Given the description of an element on the screen output the (x, y) to click on. 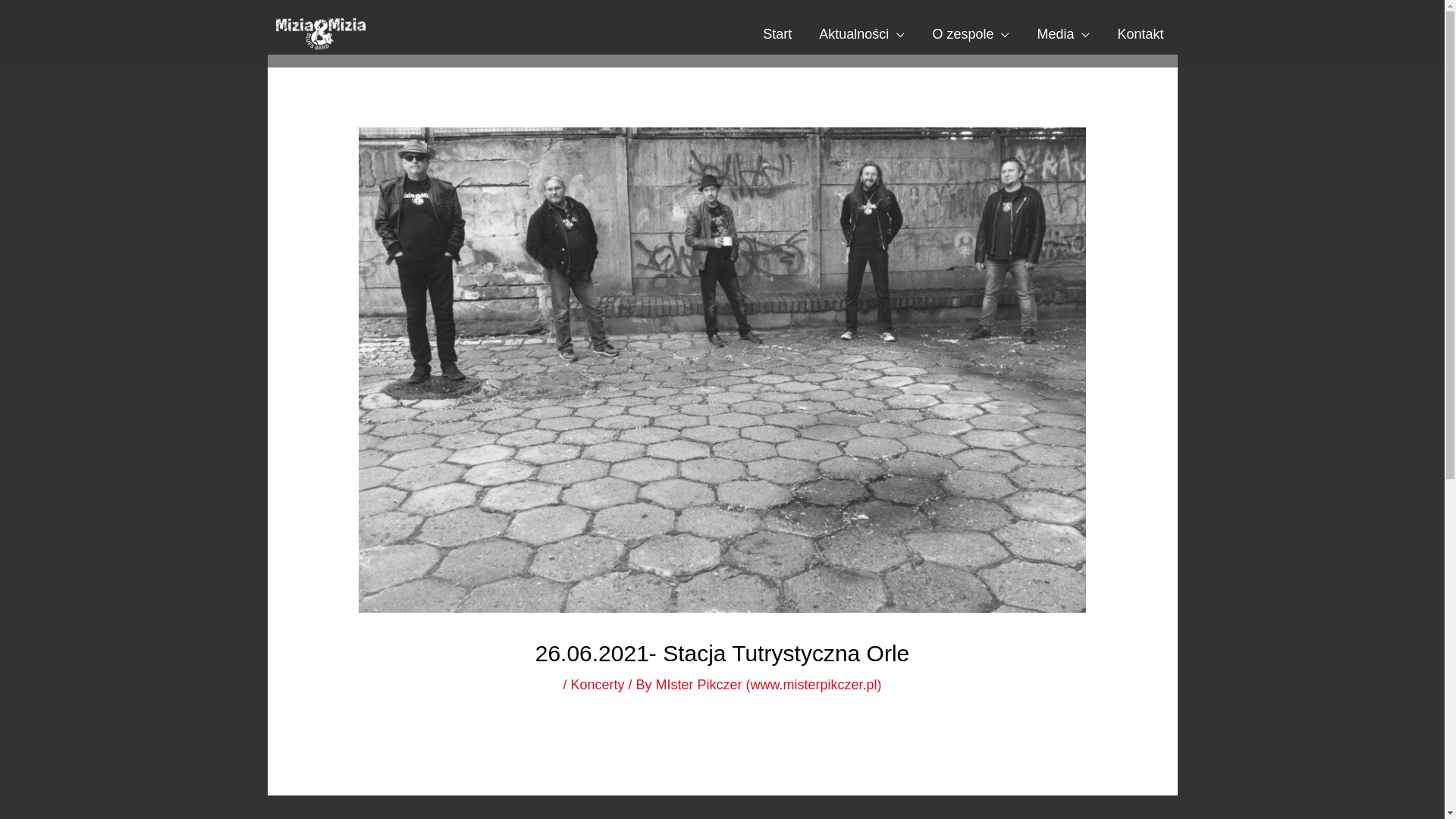
Media Element type: text (1062, 33)
Koncerty Element type: text (597, 684)
Kontakt Element type: text (1139, 33)
O zespole Element type: text (970, 33)
Start Element type: text (777, 33)
MIster Pikczer (www.misterpikczer.pl) Element type: text (768, 684)
